Given the description of an element on the screen output the (x, y) to click on. 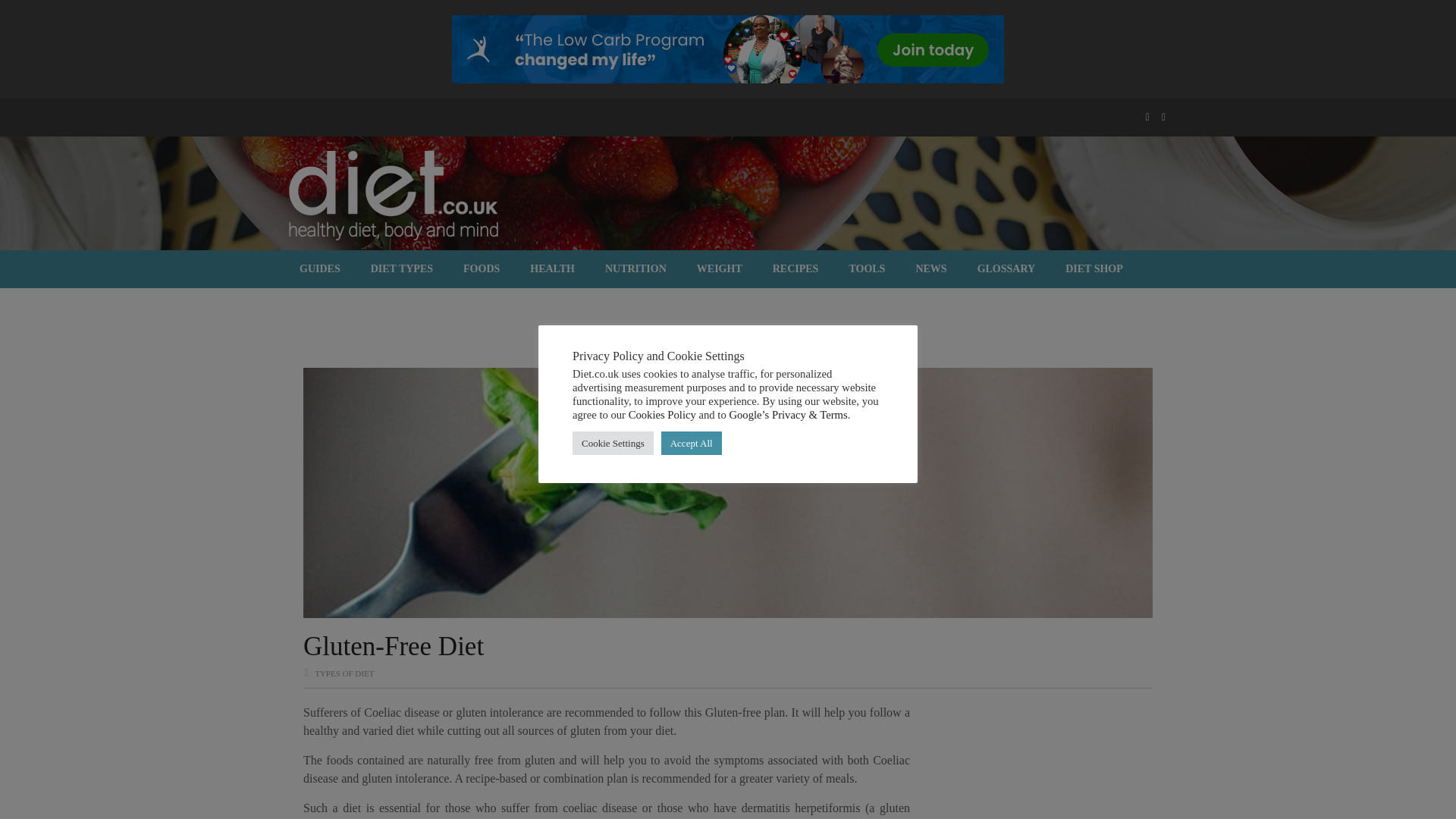
Advertisement (1030, 766)
View all posts in Types of Diet (344, 673)
